Given the description of an element on the screen output the (x, y) to click on. 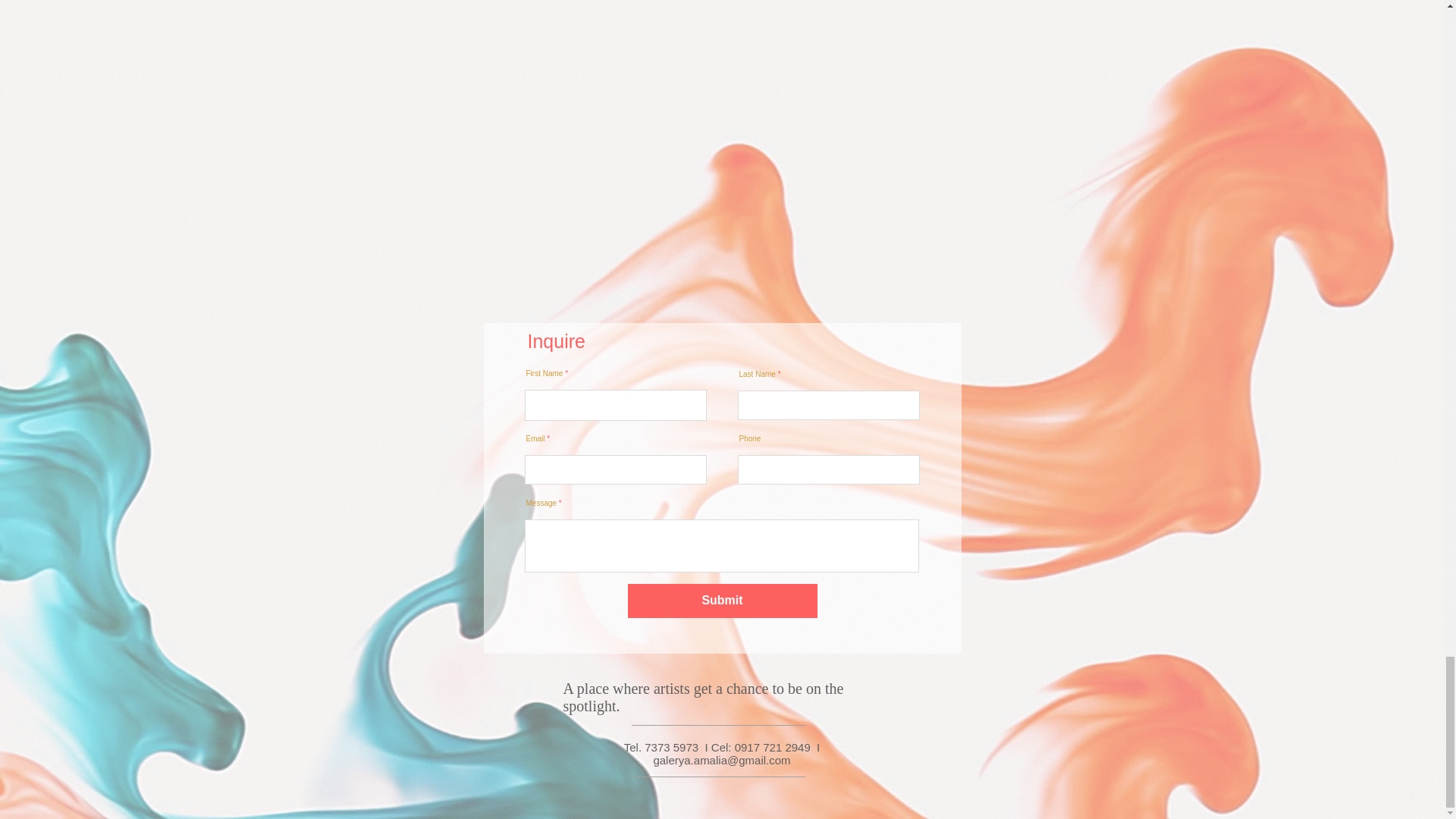
Submit (721, 600)
